Given the description of an element on the screen output the (x, y) to click on. 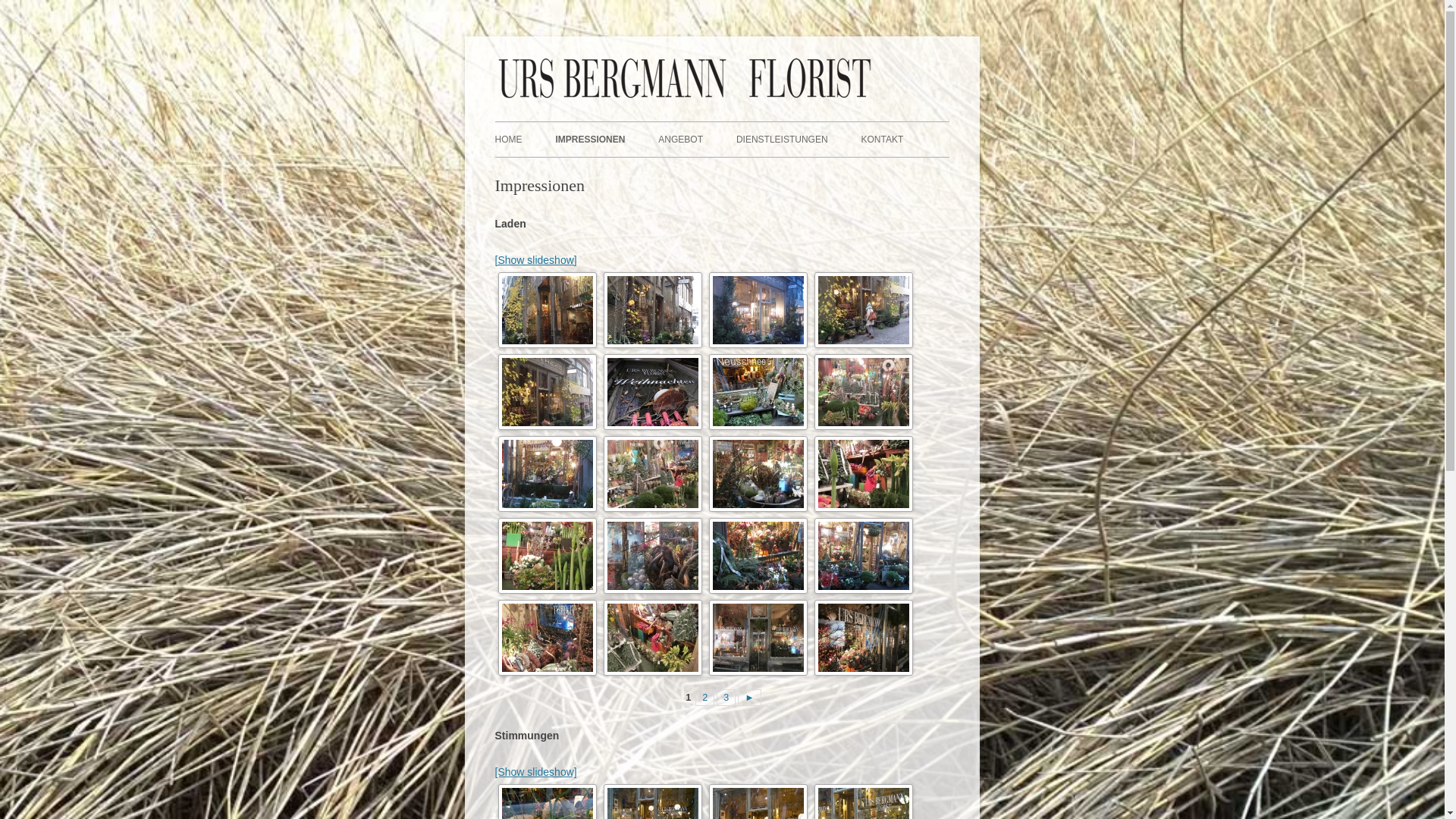
038 Element type: hover (863, 473)
Skip to content Element type: text (756, 127)
IMG_1434 Element type: hover (652, 310)
IMG_6212 Element type: hover (863, 310)
028 Element type: hover (863, 637)
034 Element type: hover (546, 473)
IMPRESSIONEN Element type: text (589, 139)
059 Element type: hover (757, 391)
[Show slideshow] Element type: text (535, 260)
040 Element type: hover (652, 473)
030 Element type: hover (757, 637)
KONTAKT Element type: text (881, 139)
148 Element type: hover (652, 391)
2 Element type: text (704, 697)
039 Element type: hover (757, 473)
[Show slideshow] Element type: text (535, 771)
3 Element type: text (725, 697)
035 Element type: hover (757, 555)
037 Element type: hover (546, 555)
041 Element type: hover (863, 391)
IMG_1337 Element type: hover (546, 310)
IMG_6215 Element type: hover (546, 391)
032 Element type: hover (546, 637)
036 Element type: hover (652, 555)
HOME Element type: text (507, 139)
ANGEBOT Element type: text (680, 139)
IMG_3071 Element type: hover (757, 310)
DIENSTLEISTUNGEN Element type: text (782, 139)
033 Element type: hover (863, 555)
031 Element type: hover (652, 637)
INTERIEUR Element type: text (733, 171)
